Given the description of an element on the screen output the (x, y) to click on. 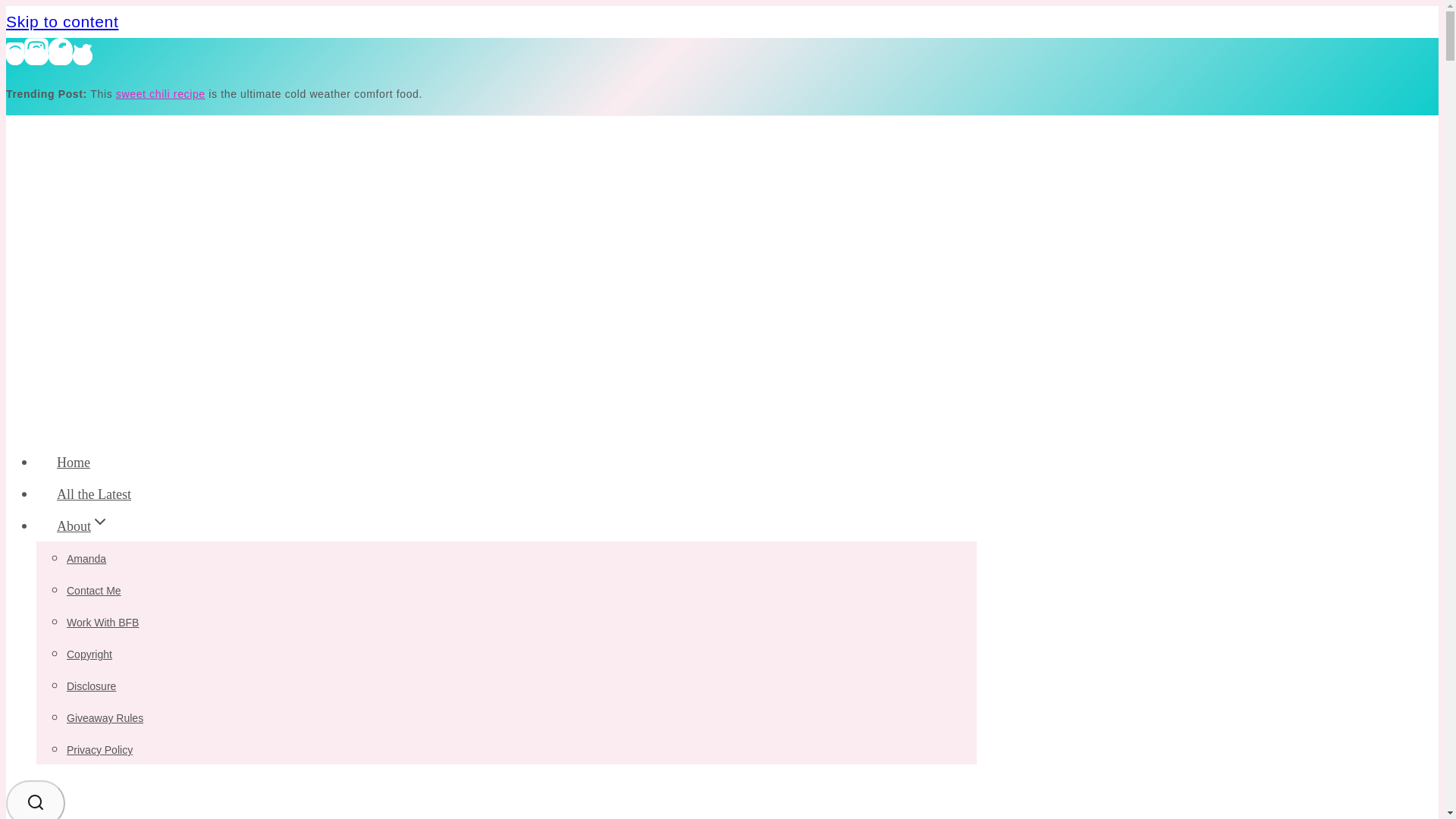
Privacy Policy (99, 749)
Contact Me (93, 590)
Pinterest (14, 56)
Pinterest (14, 51)
Copyright (89, 654)
Expand (99, 521)
sweet chili recipe (160, 93)
Work With BFB (102, 622)
Instagram (36, 56)
Facebook (60, 56)
Facebook (60, 49)
Giveaway Rules (104, 717)
SEARCH (35, 799)
Instagram (36, 49)
Twitter (82, 56)
